Given the description of an element on the screen output the (x, y) to click on. 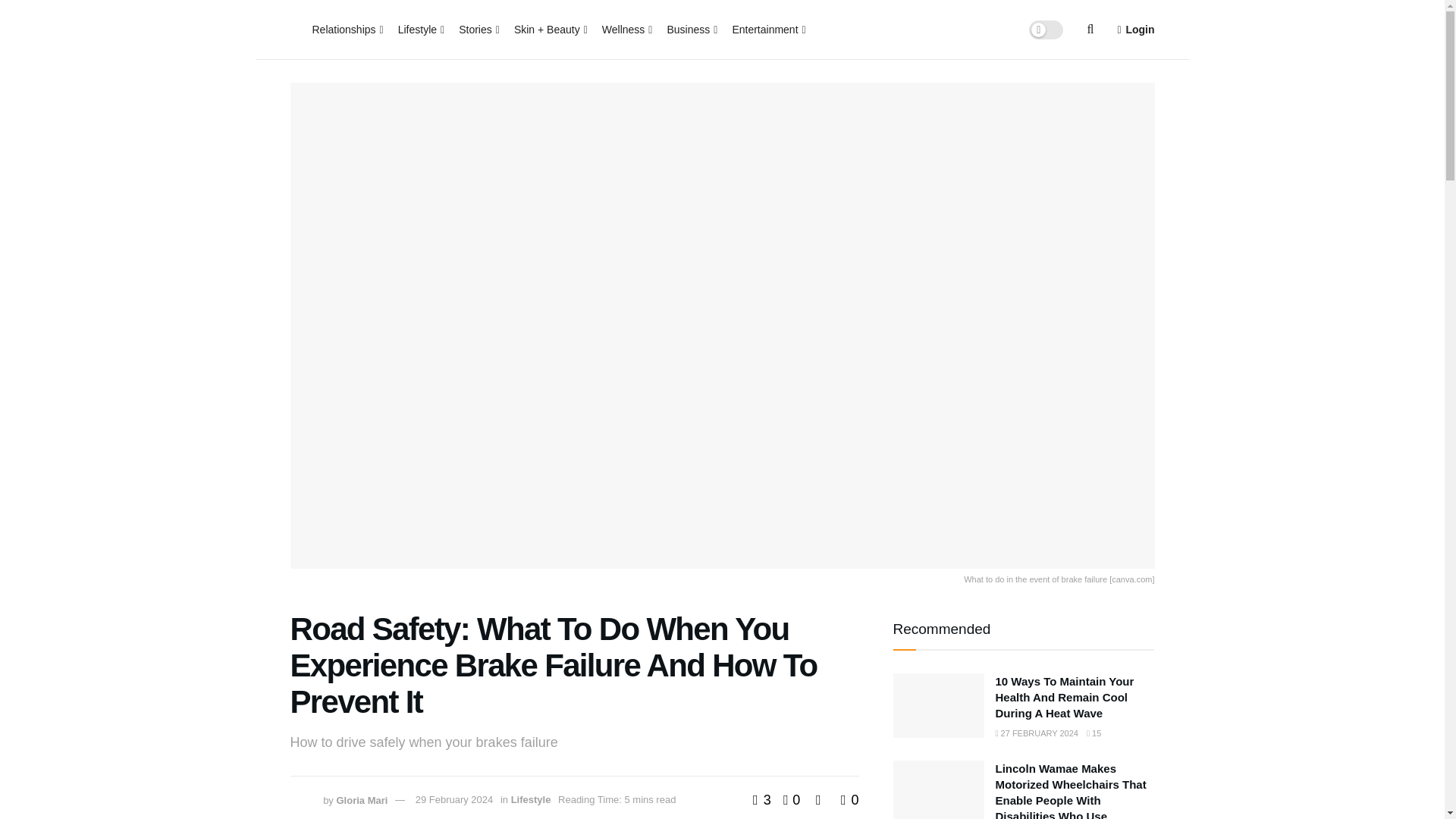
Lifestyle (419, 29)
Entertainment (767, 29)
Stories (477, 29)
Business (690, 29)
Relationships (347, 29)
Wellness (626, 29)
